Given the description of an element on the screen output the (x, y) to click on. 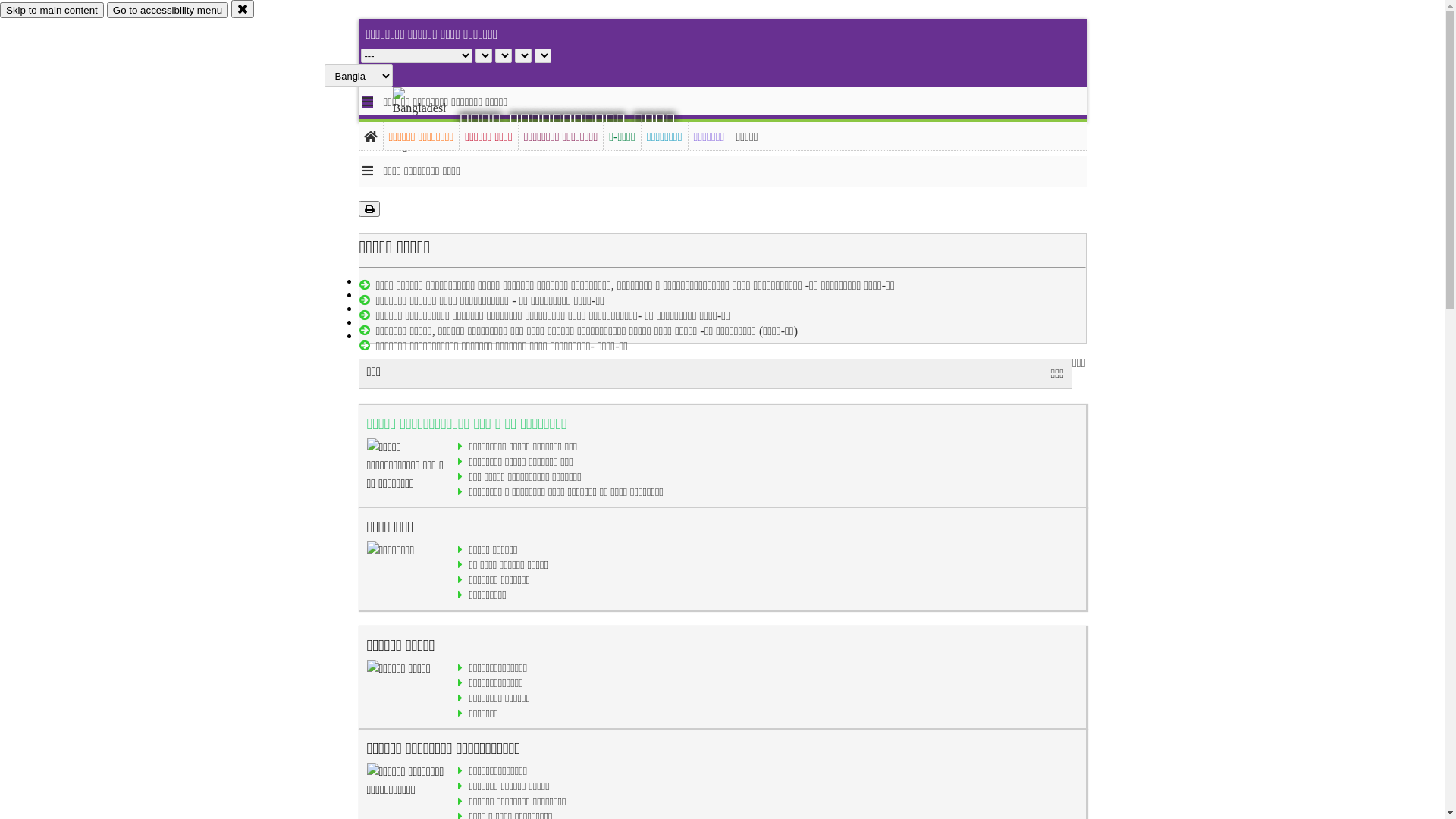
Skip to main content Element type: text (51, 10)

                
             Element type: hover (431, 120)
close Element type: hover (242, 9)
Go to accessibility menu Element type: text (167, 10)
